Given the description of an element on the screen output the (x, y) to click on. 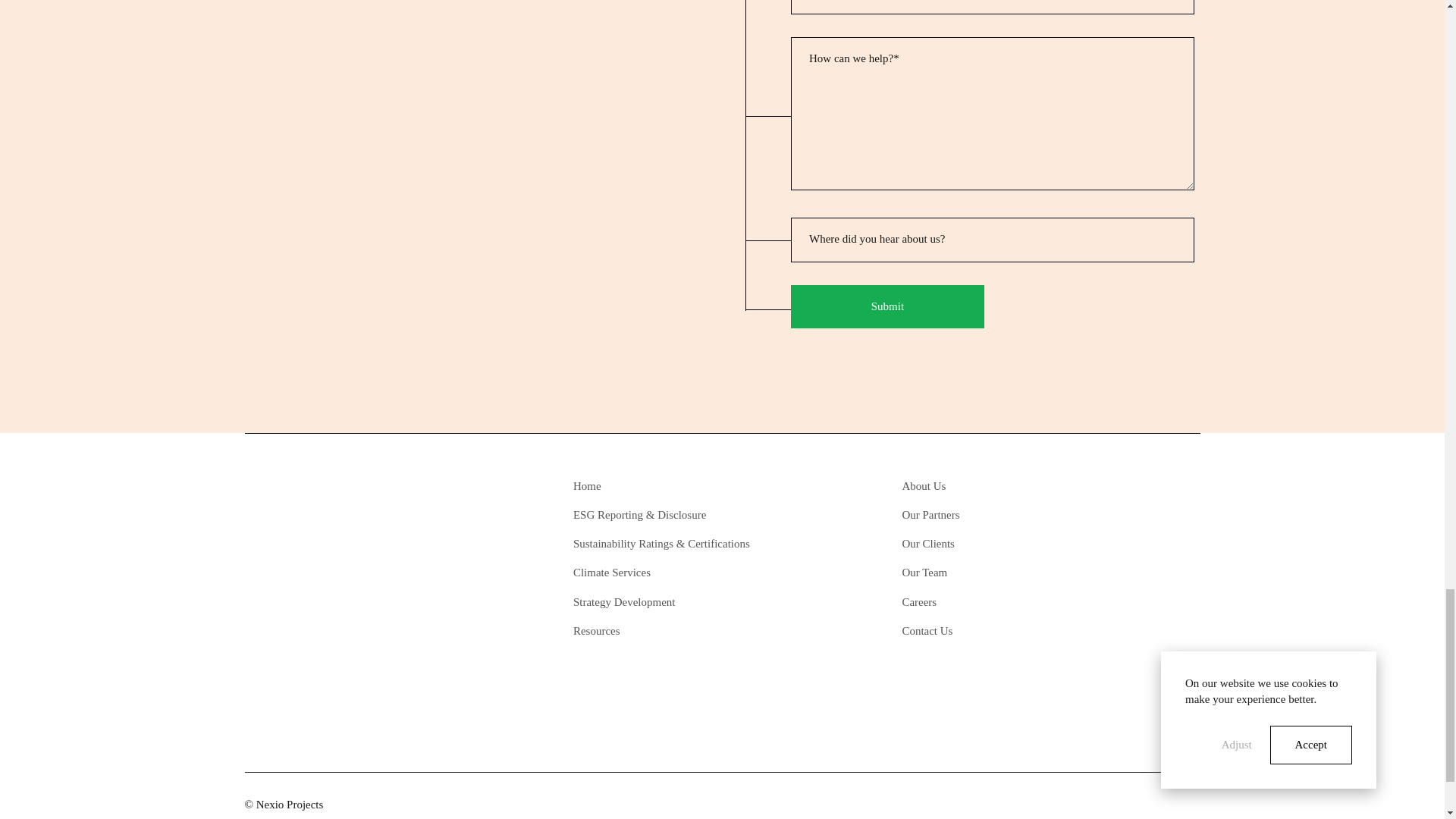
Home (671, 485)
About Us (1000, 485)
Climate Services (671, 573)
Our Partners (1000, 514)
Submit (887, 306)
Our Team (1000, 573)
Contact Us (1000, 630)
Resources (671, 630)
Our Clients (1000, 543)
Submit (887, 306)
Careers (1000, 602)
Strategy Development (671, 602)
